Given the description of an element on the screen output the (x, y) to click on. 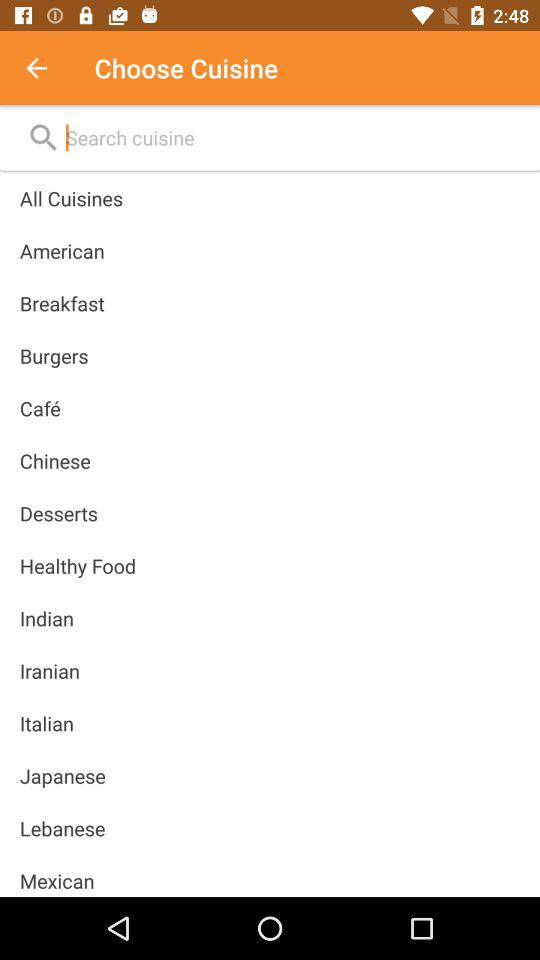
turn off japanese (62, 775)
